Given the description of an element on the screen output the (x, y) to click on. 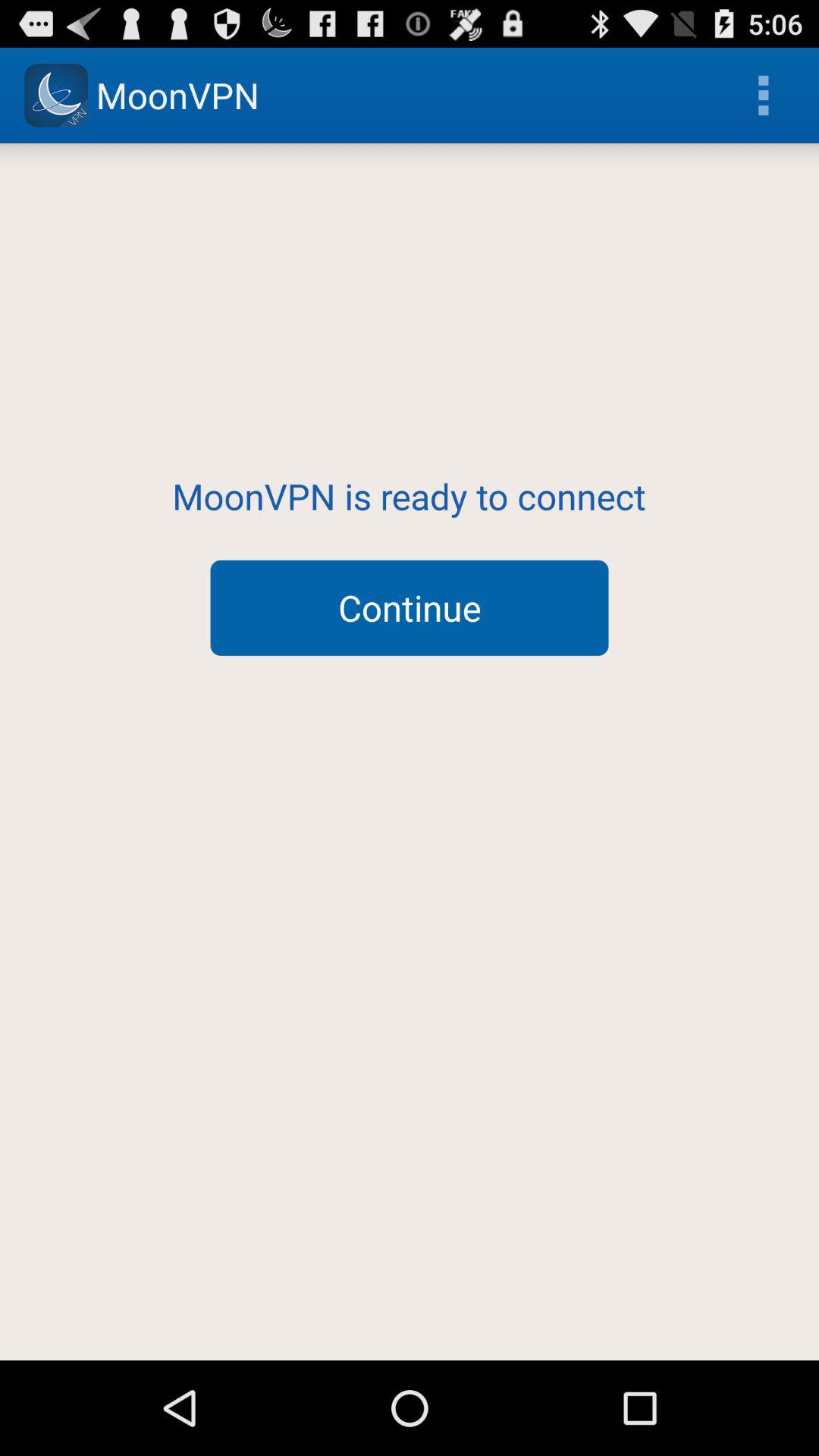
jump until the continue button (409, 607)
